Given the description of an element on the screen output the (x, y) to click on. 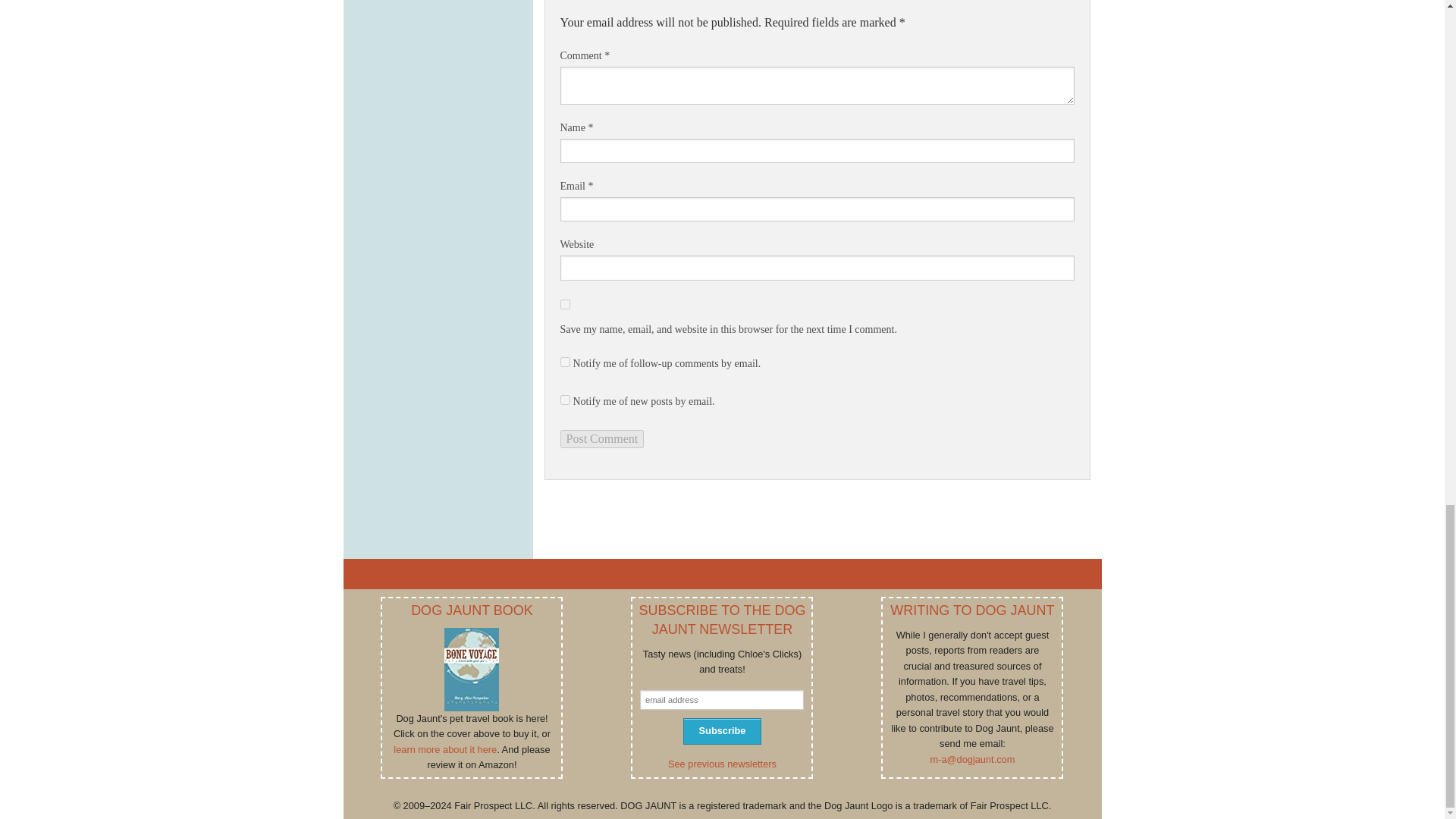
subscribe (564, 399)
yes (564, 304)
Subscribe (721, 731)
Post Comment (601, 438)
subscribe (564, 361)
